Given the description of an element on the screen output the (x, y) to click on. 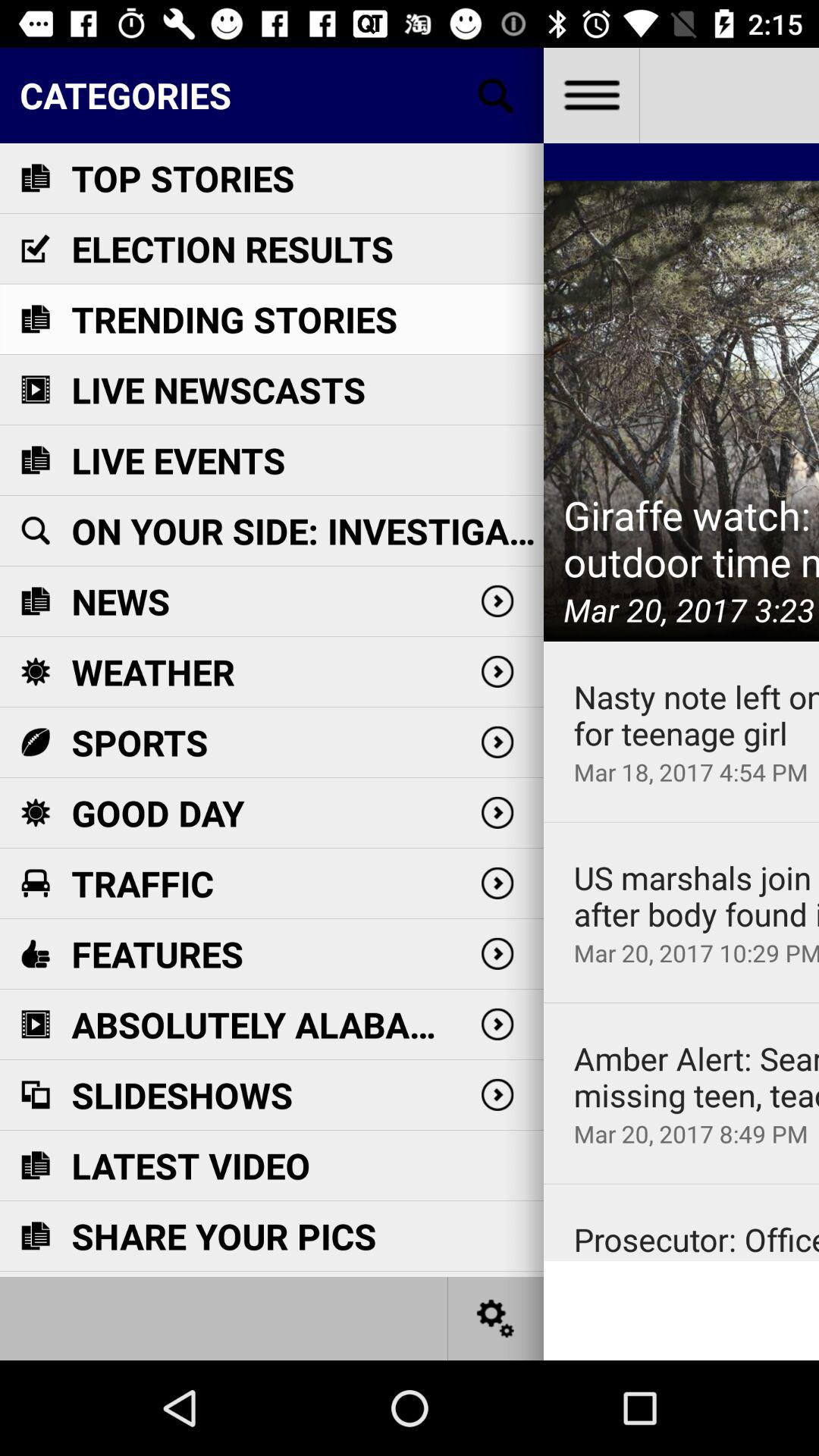
open menu (591, 95)
